Given the description of an element on the screen output the (x, y) to click on. 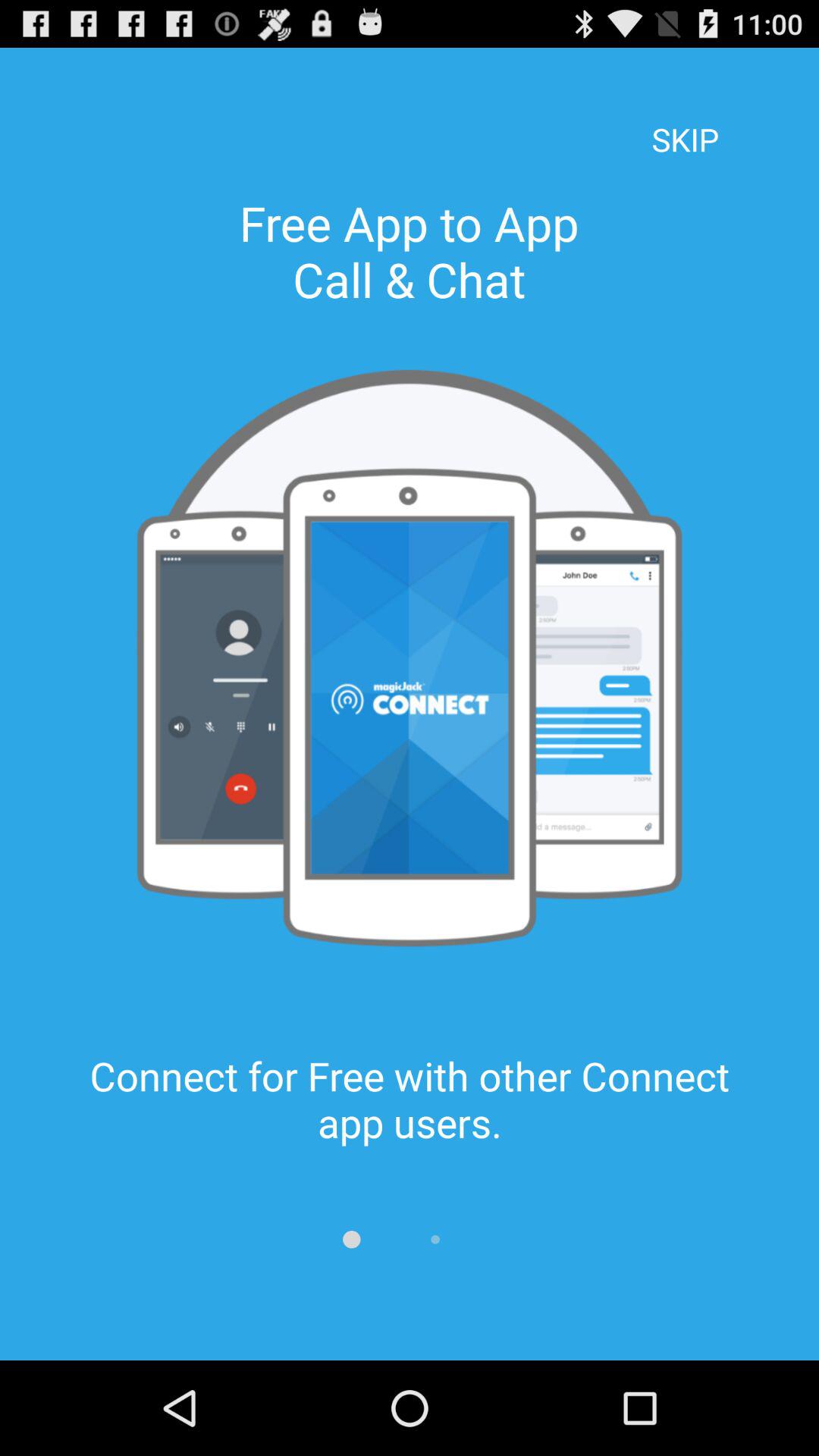
click item next to the free app to item (685, 119)
